Given the description of an element on the screen output the (x, y) to click on. 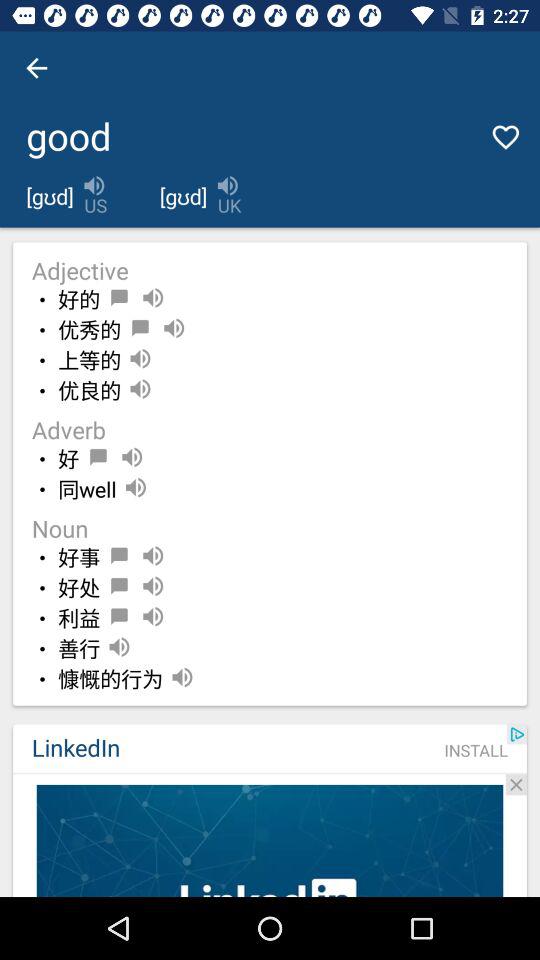
open linkedin advertisement (269, 840)
